Given the description of an element on the screen output the (x, y) to click on. 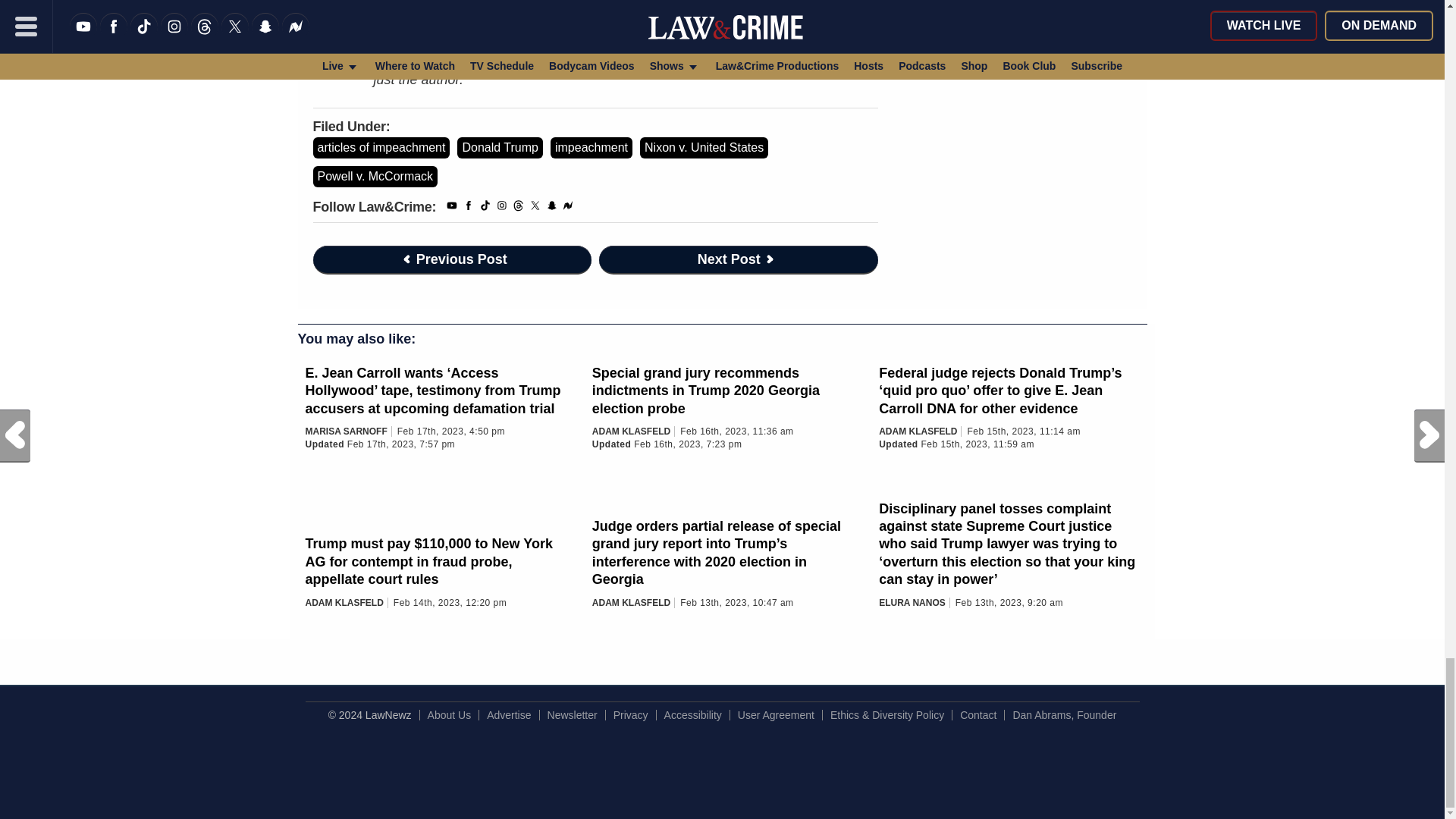
YouTube (451, 207)
